Given the description of an element on the screen output the (x, y) to click on. 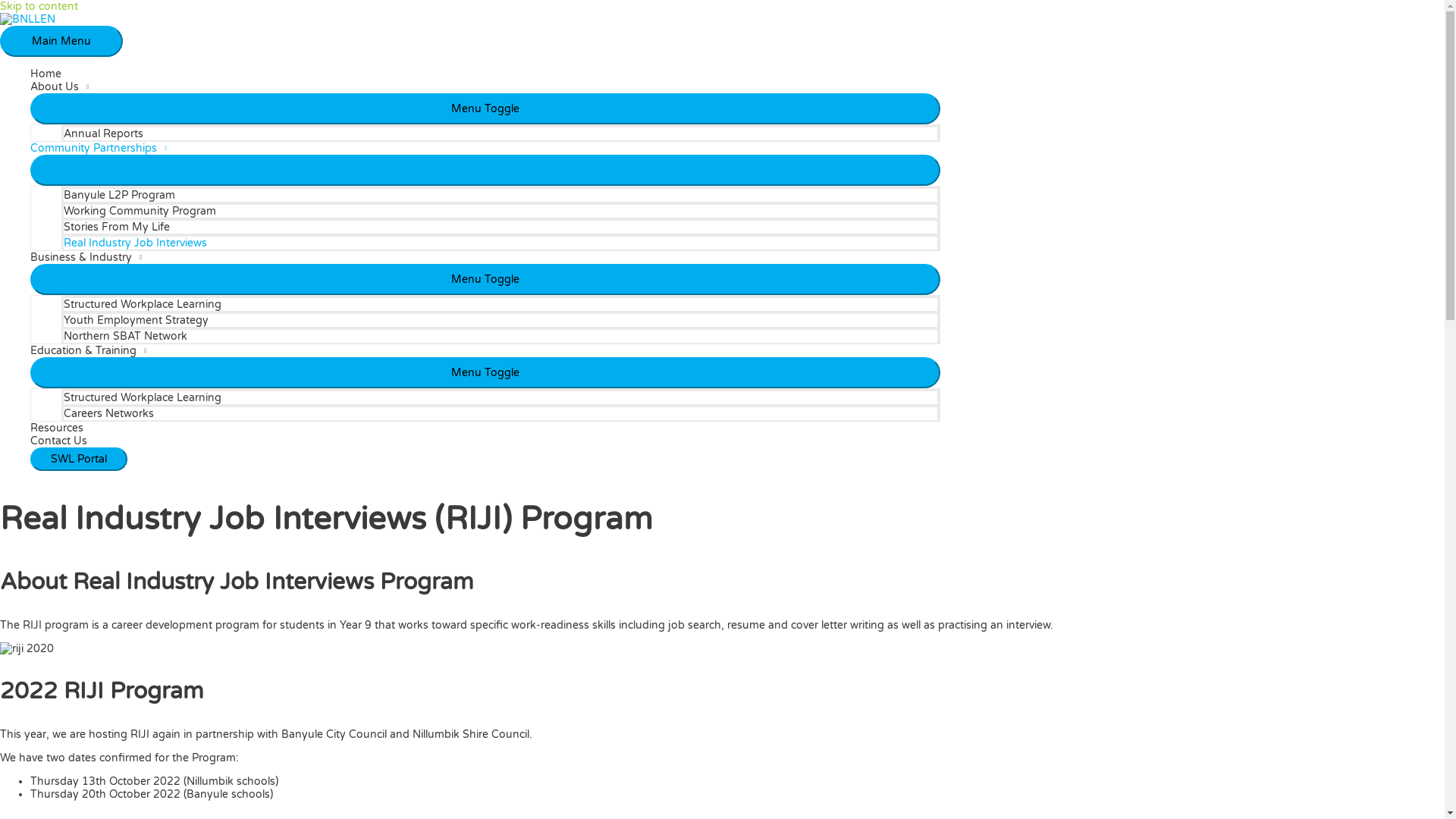
Main Menu Element type: text (61, 40)
Real Industry Job Interviews Element type: text (500, 242)
SWL Portal Element type: text (78, 458)
Structured Workplace Learning Element type: text (500, 303)
Education & Training Element type: text (485, 350)
Working Community Program Element type: text (500, 210)
Menu Toggle Element type: text (485, 372)
Home Element type: text (485, 73)
Careers Networks Element type: text (500, 412)
Northern SBAT Network Element type: text (500, 335)
Skip to content Element type: text (39, 6)
Community Partnerships Element type: text (485, 147)
riji 2020 Element type: hover (26, 648)
Menu Toggle Element type: text (485, 108)
Resources Element type: text (485, 427)
Menu Toggle Element type: text (485, 169)
About Us Element type: text (485, 86)
Structured Workplace Learning Element type: text (500, 396)
Banyule L2P Program Element type: text (500, 194)
Youth Employment Strategy Element type: text (500, 319)
Business & Industry Element type: text (485, 257)
Contact Us Element type: text (485, 440)
Menu Toggle Element type: text (485, 278)
Stories From My Life Element type: text (500, 226)
Annual Reports Element type: text (500, 133)
SWL Portal Element type: text (78, 458)
